Given the description of an element on the screen output the (x, y) to click on. 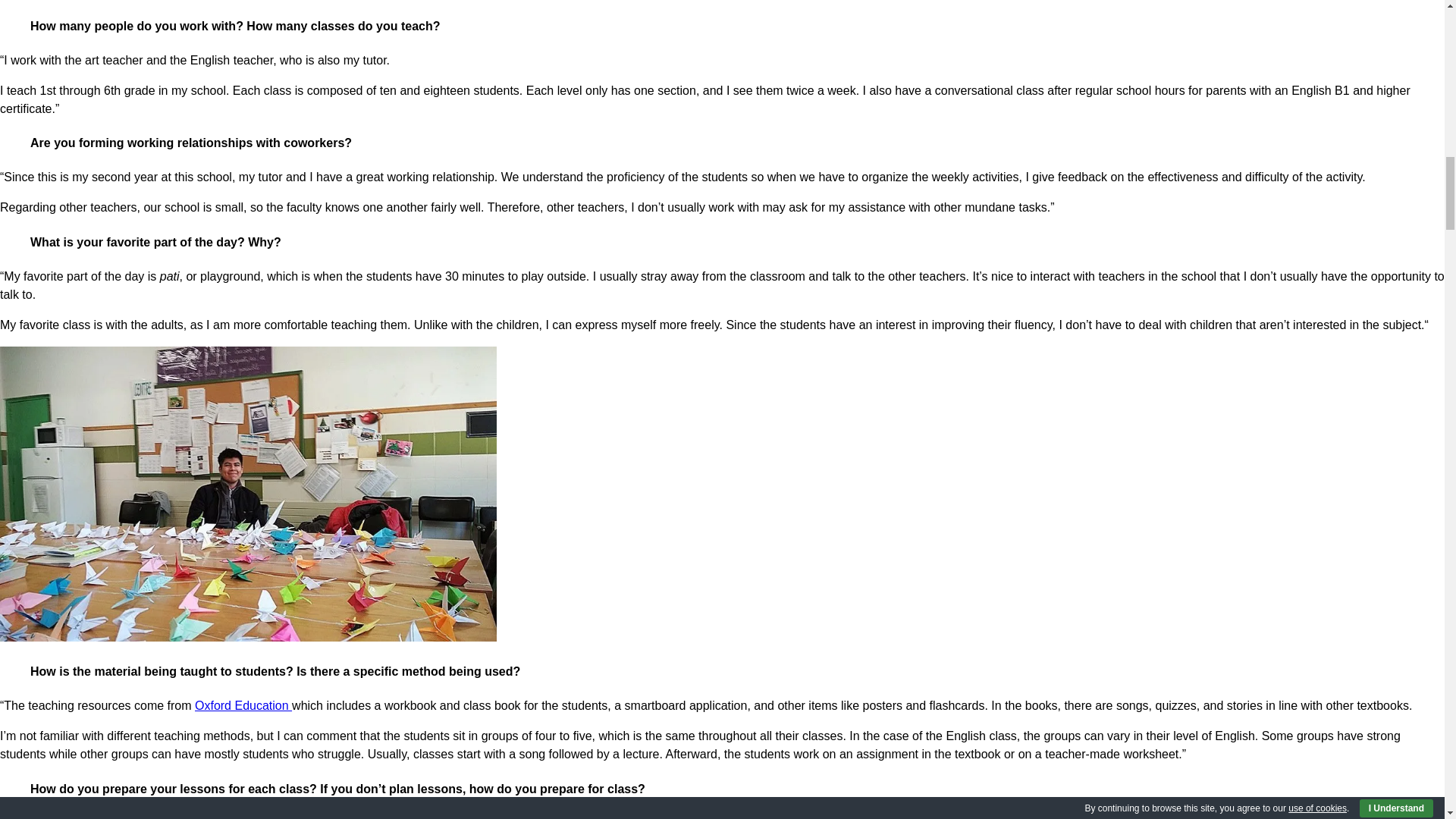
Oxford Education (243, 705)
